Given the description of an element on the screen output the (x, y) to click on. 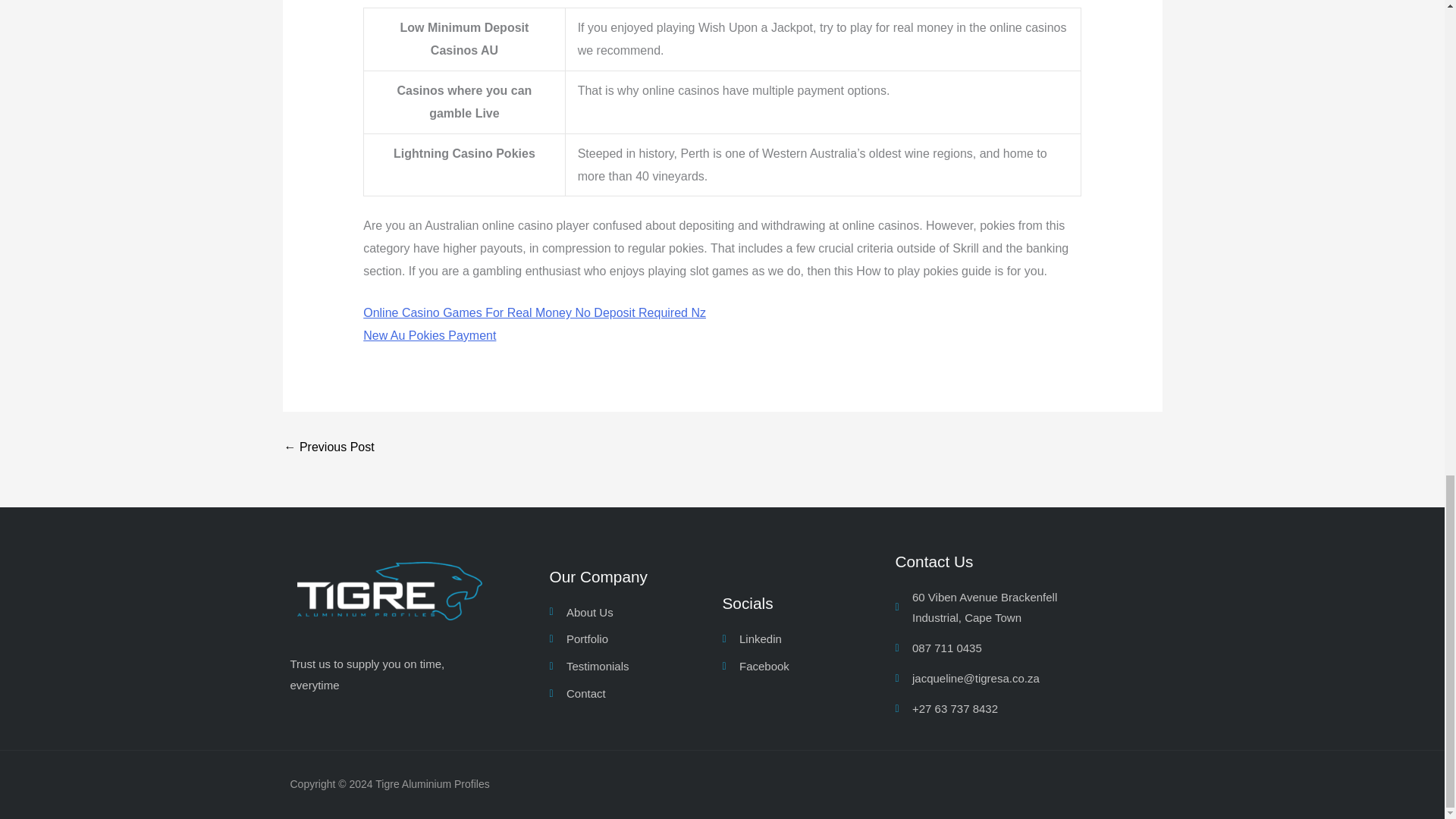
Hello world! (328, 447)
